Given the description of an element on the screen output the (x, y) to click on. 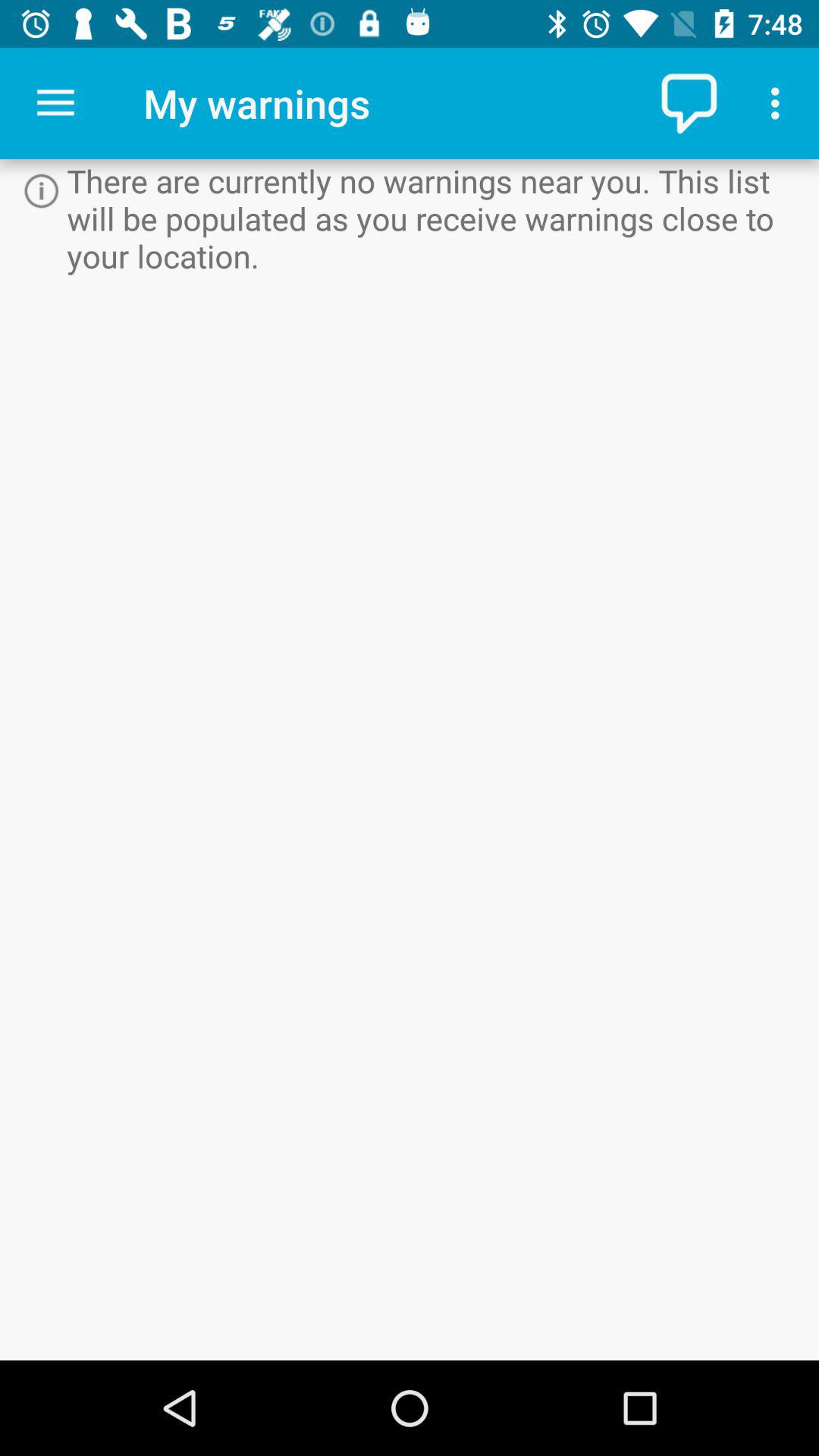
turn off app to the left of the my warnings icon (55, 103)
